Given the description of an element on the screen output the (x, y) to click on. 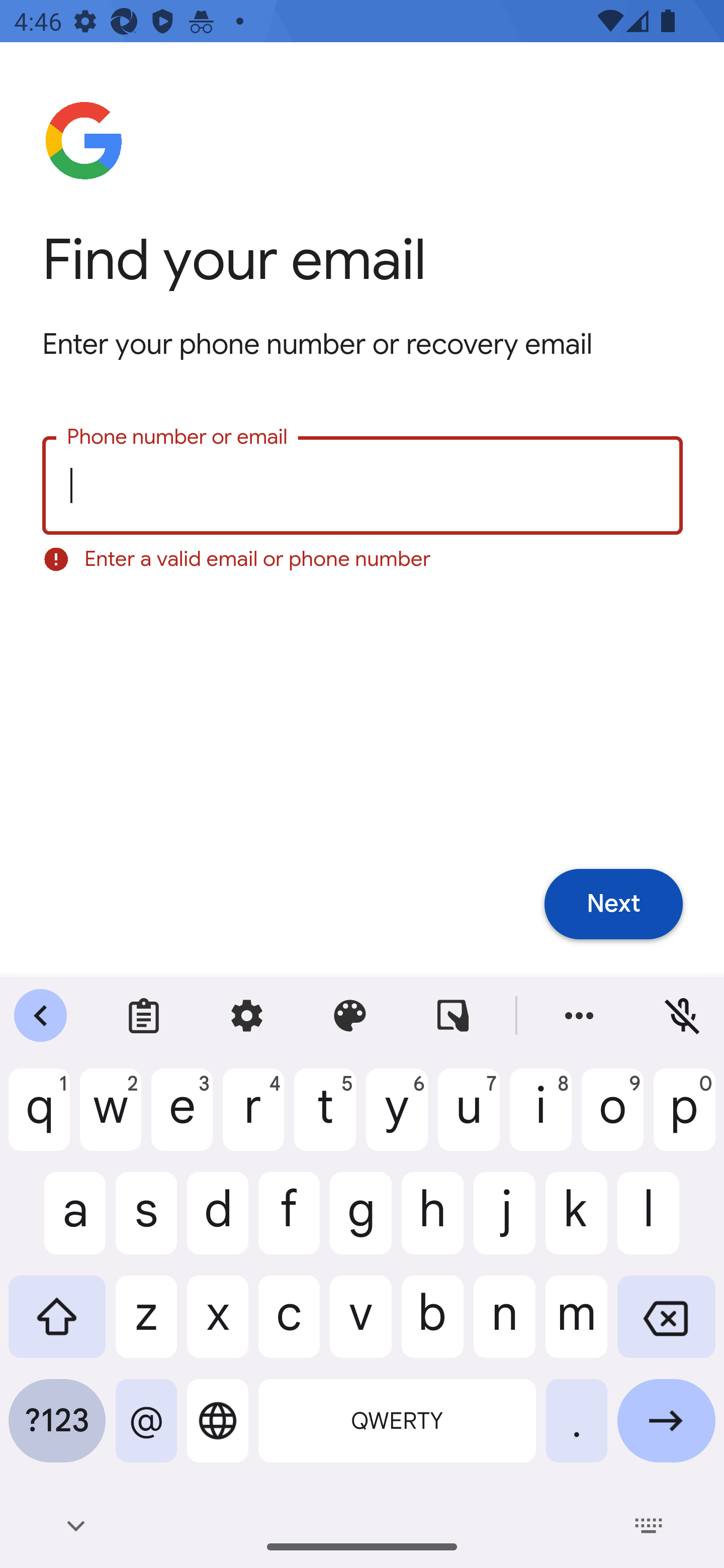
Next (613, 904)
